Given the description of an element on the screen output the (x, y) to click on. 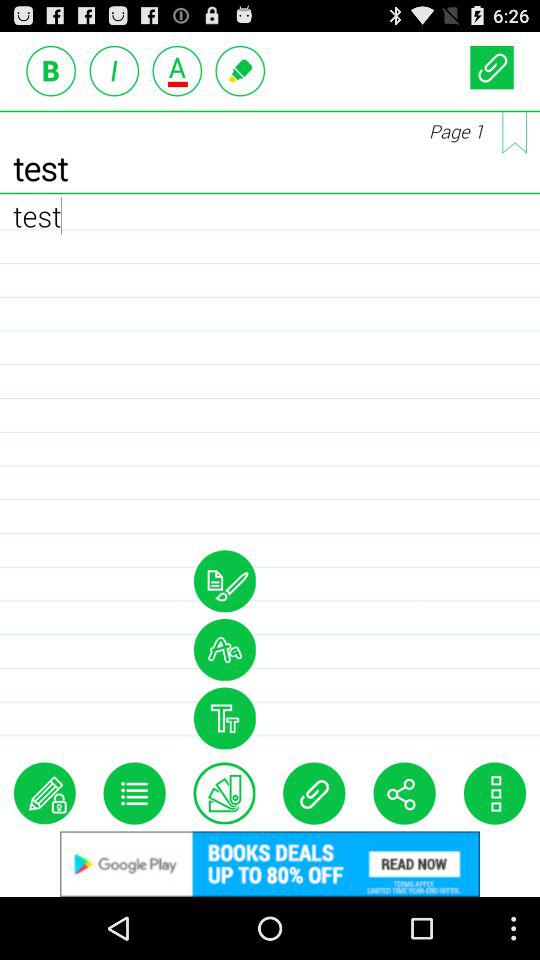
advertisement (270, 864)
